Given the description of an element on the screen output the (x, y) to click on. 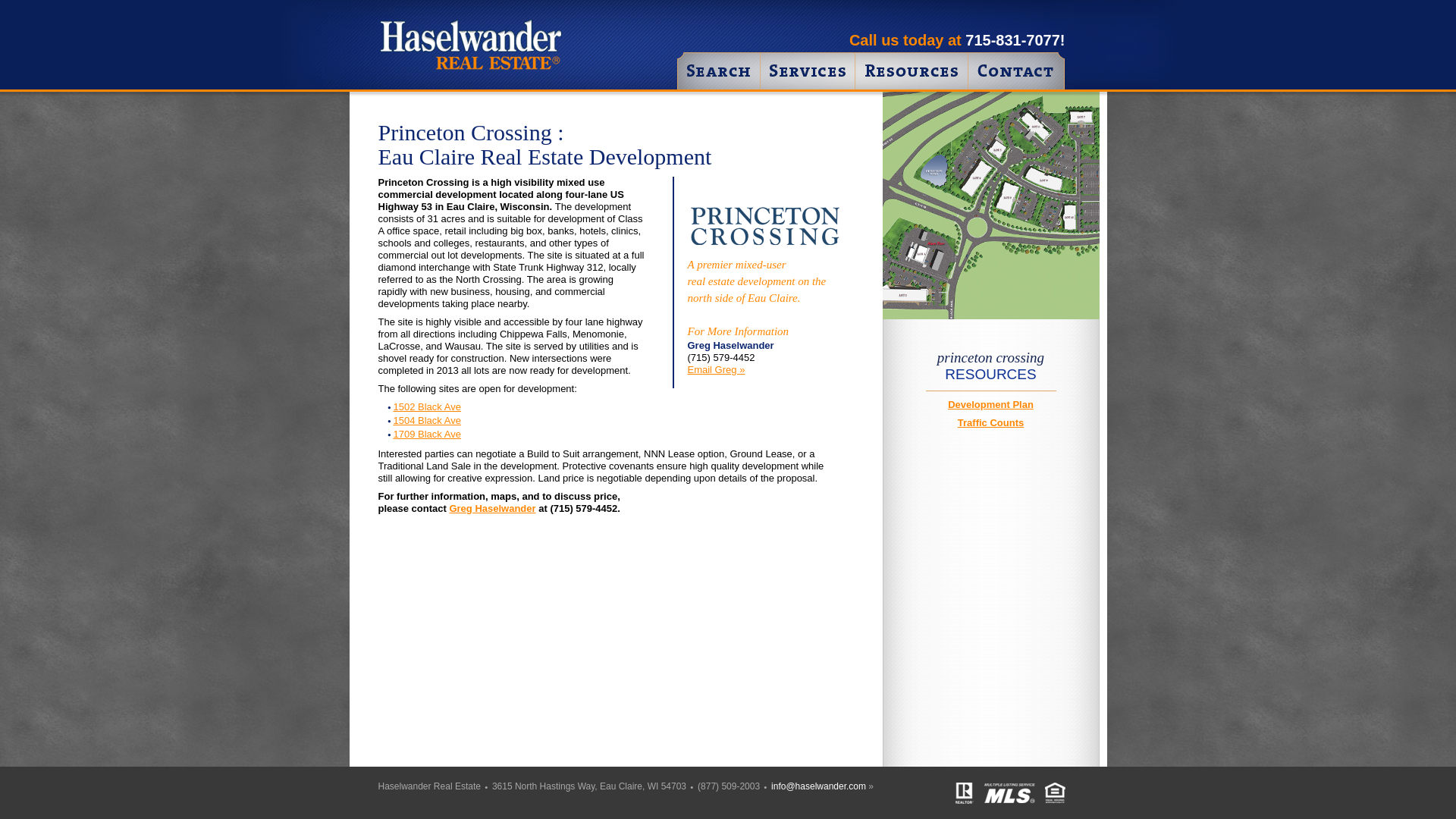
Development Plan (990, 404)
1502 Black Ave (426, 406)
Greg Haselwander (491, 508)
Traffic Counts (990, 422)
1504 Black Ave (426, 419)
1709 Black Ave (426, 433)
